Given the description of an element on the screen output the (x, y) to click on. 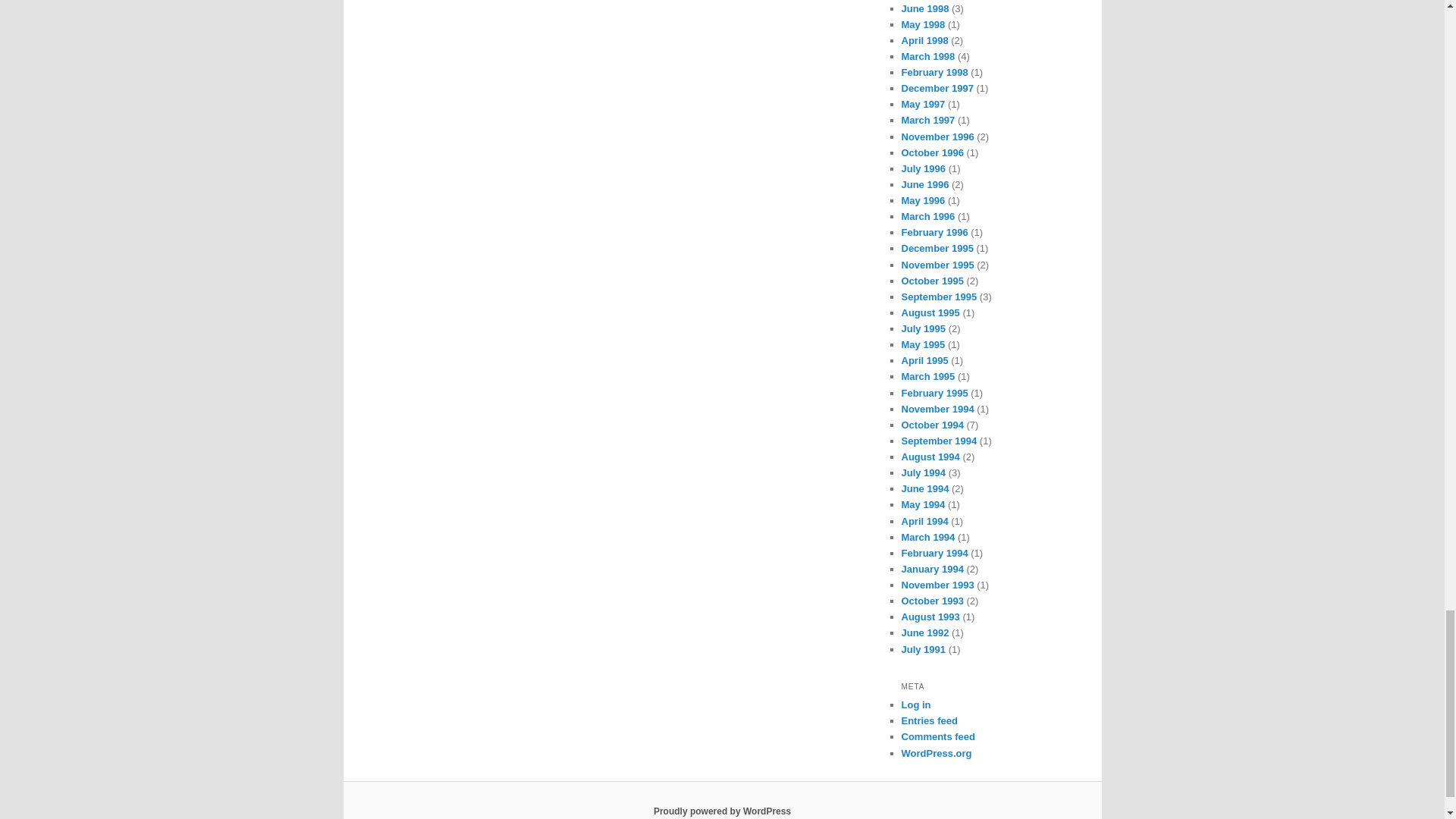
Semantic Personal Publishing Platform (721, 810)
